Given the description of an element on the screen output the (x, y) to click on. 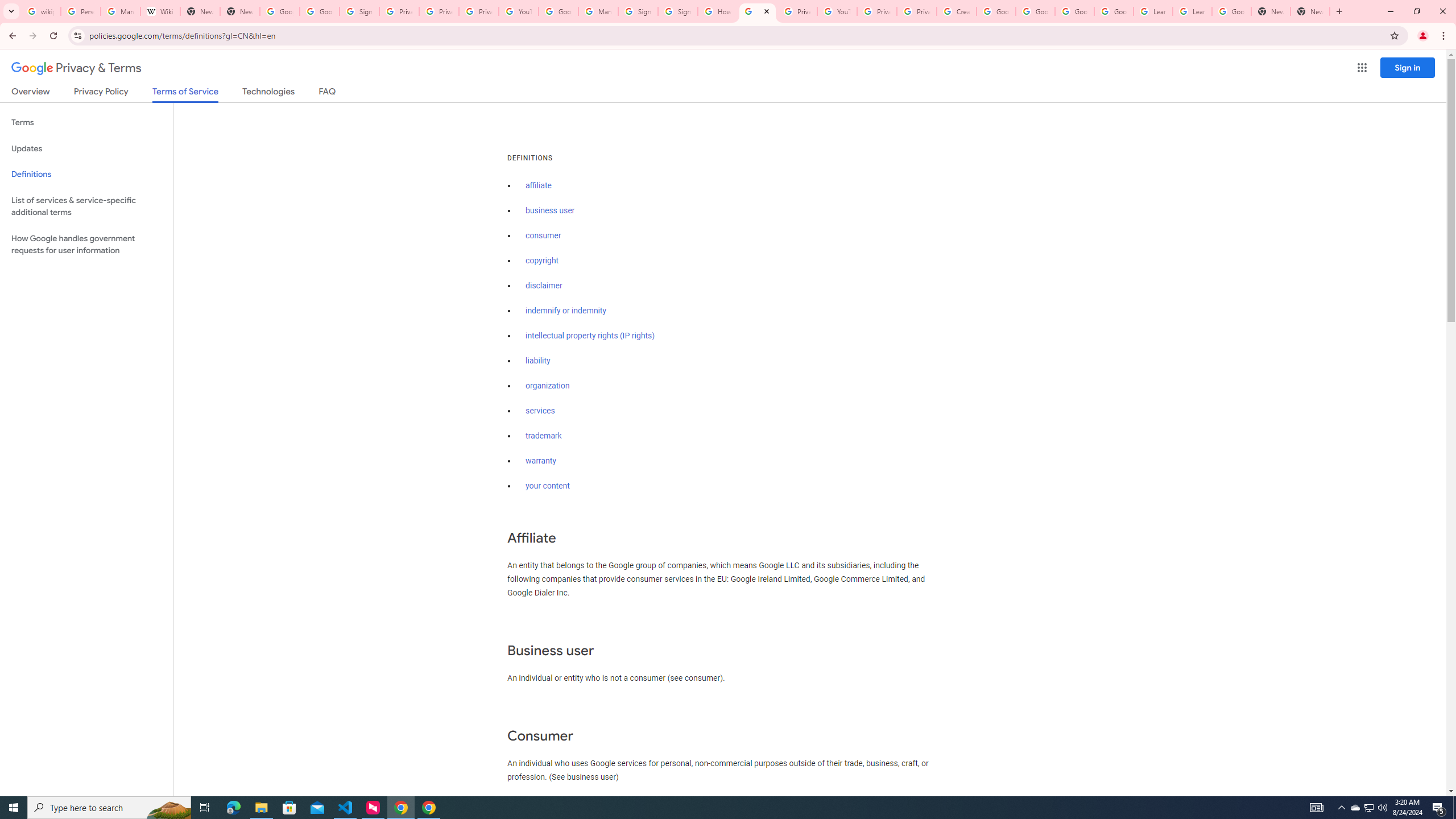
Google Account Help (995, 11)
liability (537, 361)
New Tab (1270, 11)
Google Account Help (557, 11)
